Given the description of an element on the screen output the (x, y) to click on. 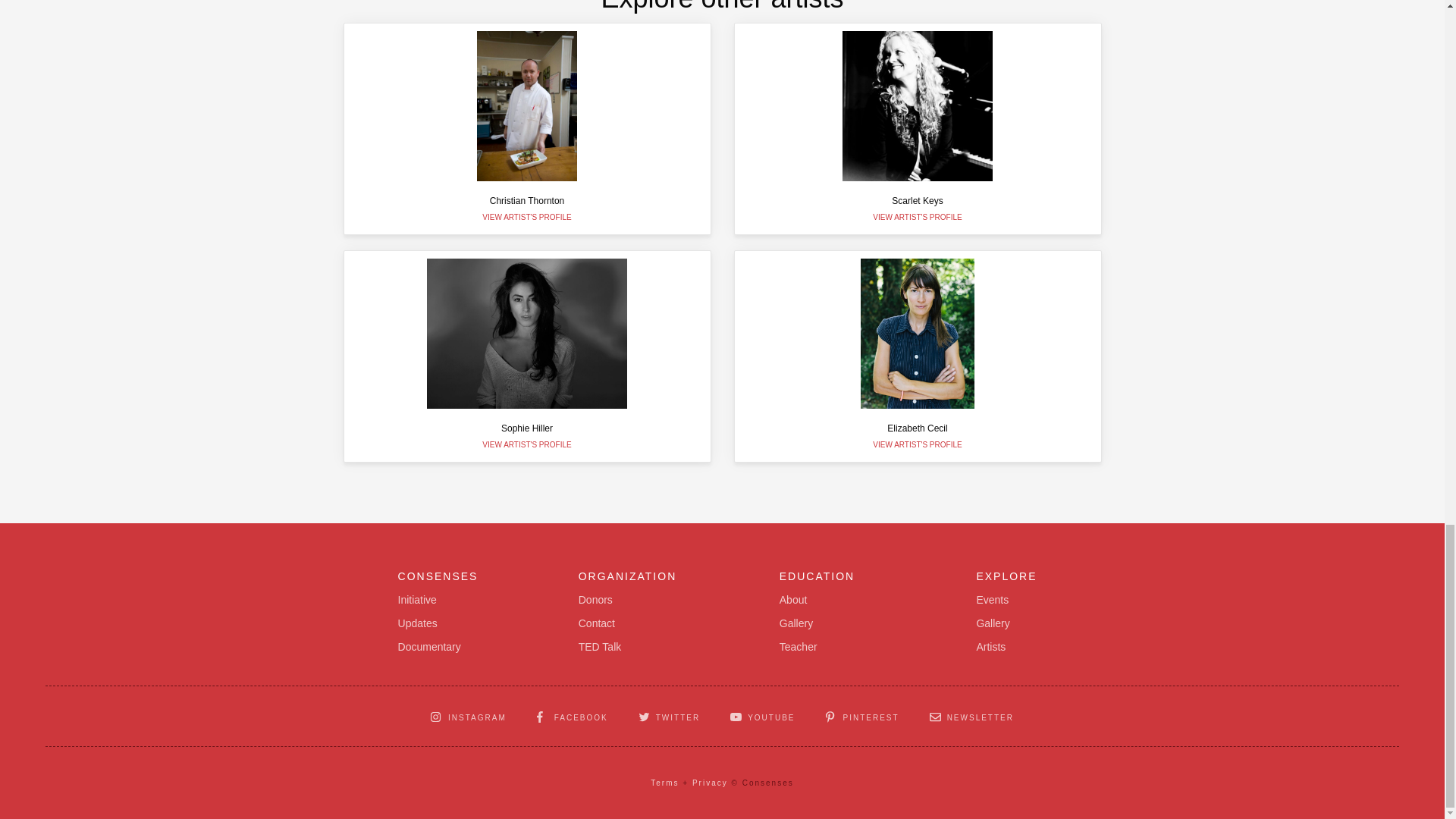
FACEBOOK (572, 716)
Documentary (429, 647)
Artists (990, 647)
Gallery (992, 623)
Teacher (797, 647)
Donors (595, 600)
TED Talk (526, 356)
Contact (599, 647)
